Given the description of an element on the screen output the (x, y) to click on. 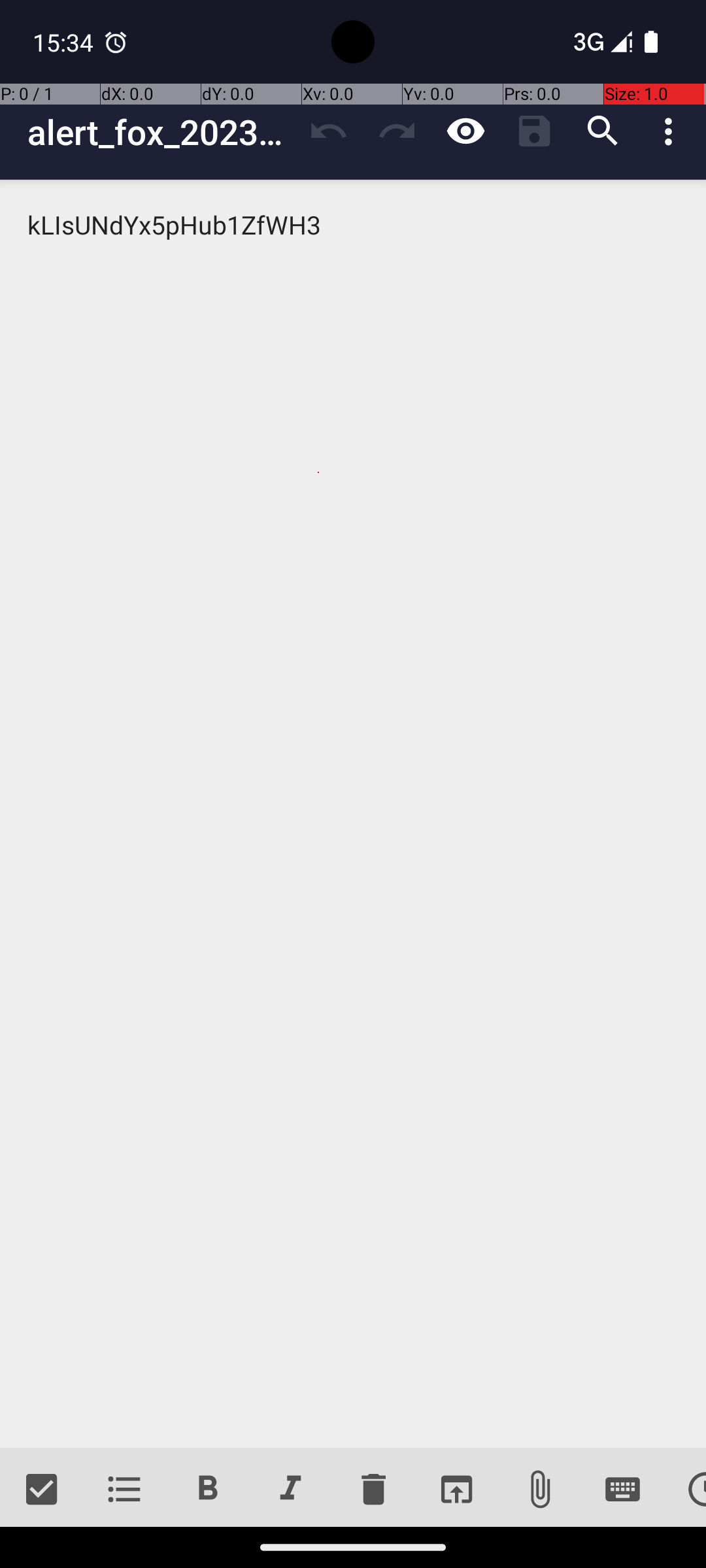
alert_fox_2023_01_10 Element type: android.widget.TextView (160, 131)
kLIsUNdYx5pHub1ZfWH3
 Element type: android.widget.EditText (353, 813)
